Given the description of an element on the screen output the (x, y) to click on. 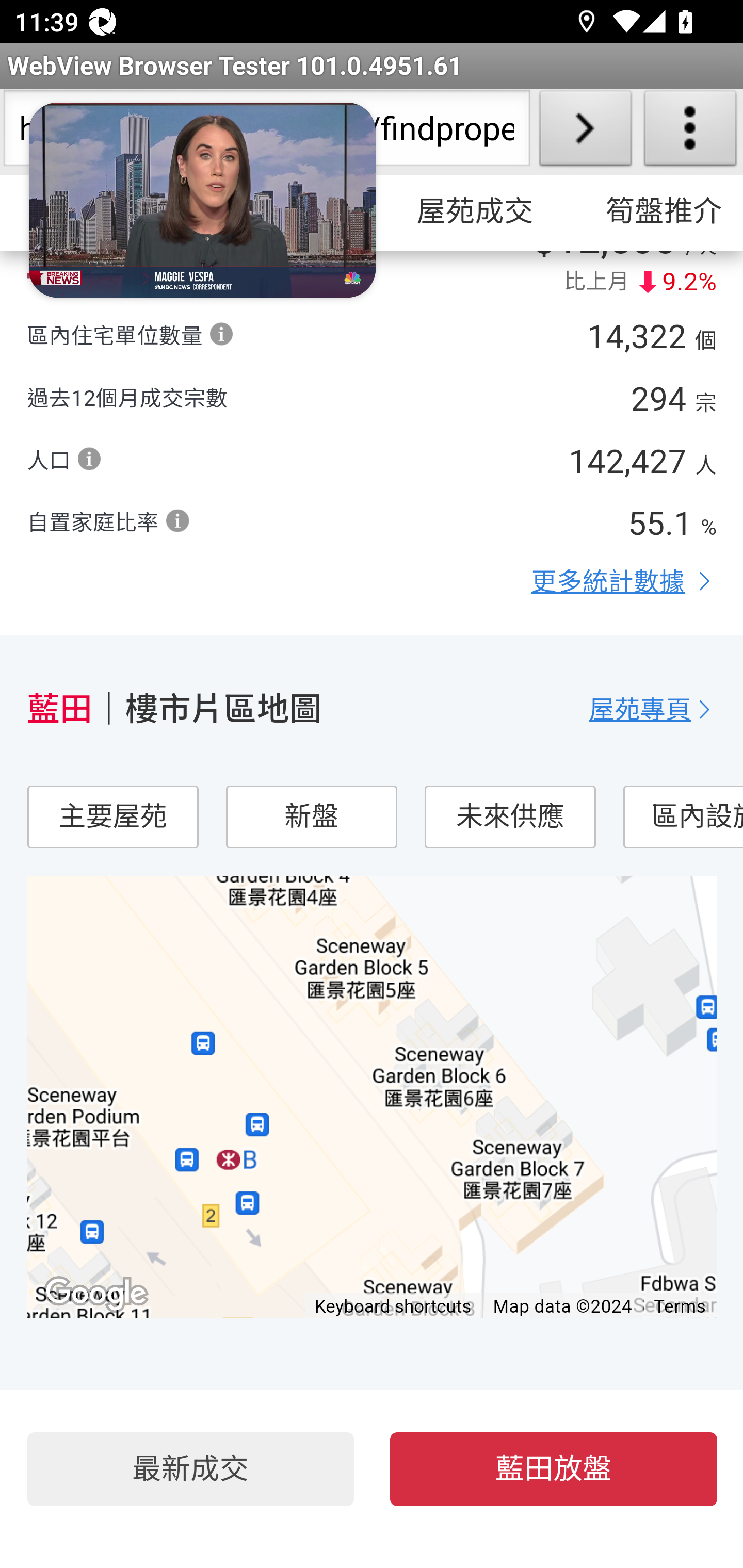
Load URL (585, 132)
About WebView (690, 132)
屋苑成交 (474, 212)
筍盤推介 (655, 212)
更多統計數據  (624, 582)
屋苑專頁  屋苑專頁  (653, 710)
主要屋苑 (112, 817)
新盤 (310, 817)
未來供應 (508, 817)
最新成交 (190, 1469)
藍田放盤 (554, 1469)
